Given the description of an element on the screen output the (x, y) to click on. 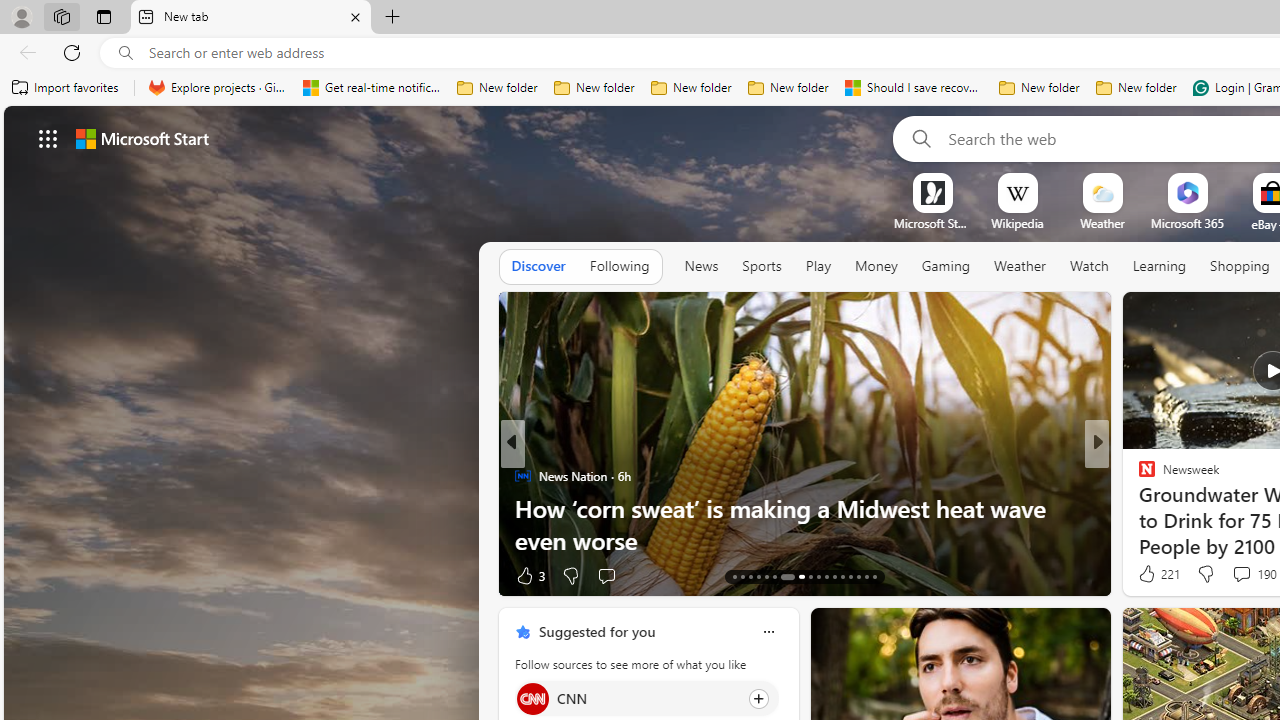
221 Like (1157, 574)
To get missing image descriptions, open the context menu. (932, 192)
Suggested for you (596, 631)
New Tab (392, 17)
AutomationID: tab-29 (874, 576)
View comments 19 Comment (1229, 575)
View comments 190 Comment (1241, 573)
View comments 125 Comment (1234, 575)
More options (768, 631)
Ad Choice (479, 575)
Nordace.com (1165, 507)
CNN (532, 697)
USA TODAY (1138, 475)
AutomationID: tab-20 (795, 576)
Refresh (72, 52)
